Given the description of an element on the screen output the (x, y) to click on. 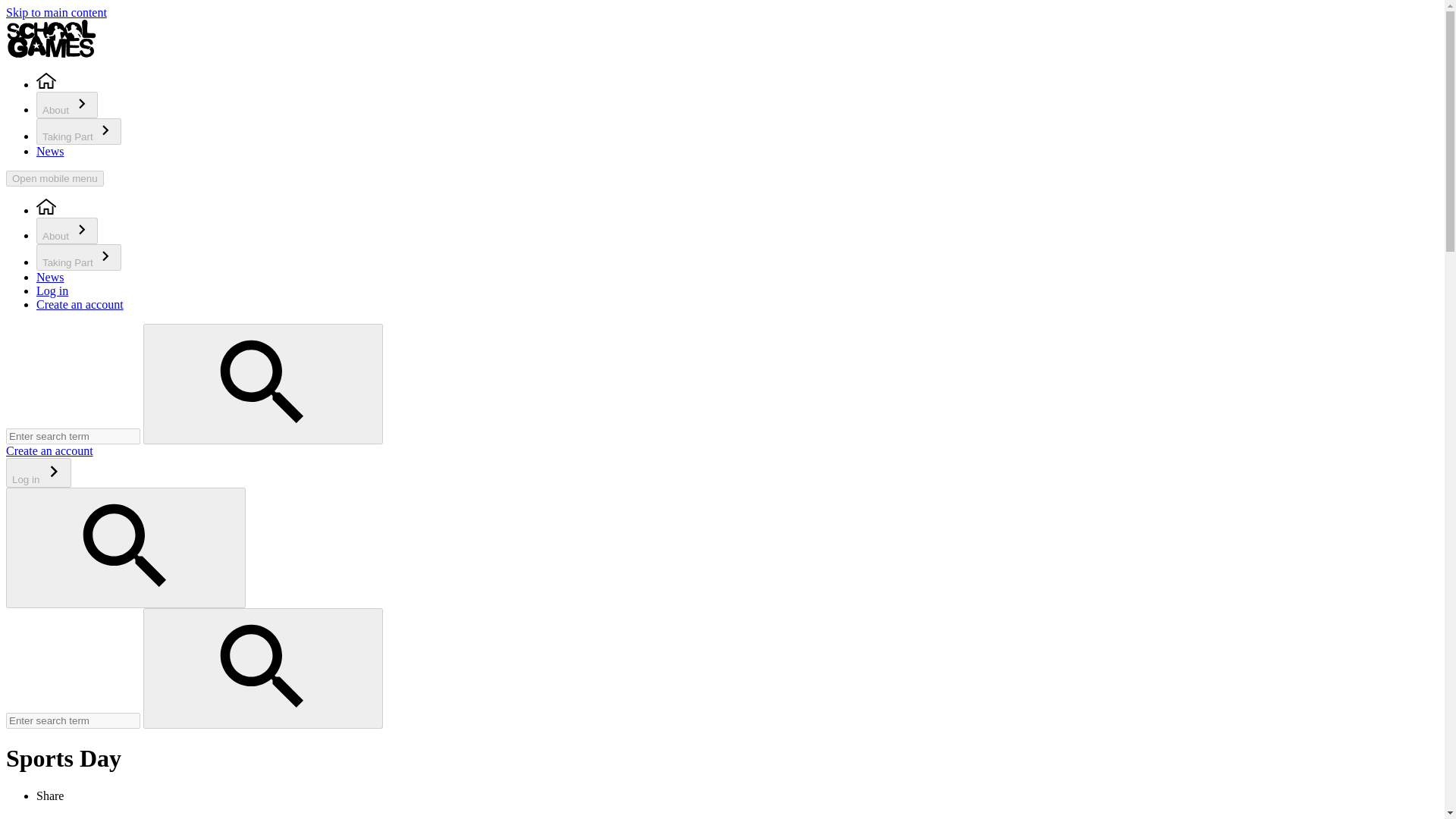
Taking Part (78, 257)
Taking Part (78, 130)
Skip to main content (55, 11)
Open mobile menu (54, 178)
News (50, 277)
About (66, 104)
School Games logo (51, 38)
News (50, 151)
About (66, 230)
Create an account (49, 450)
